Given the description of an element on the screen output the (x, y) to click on. 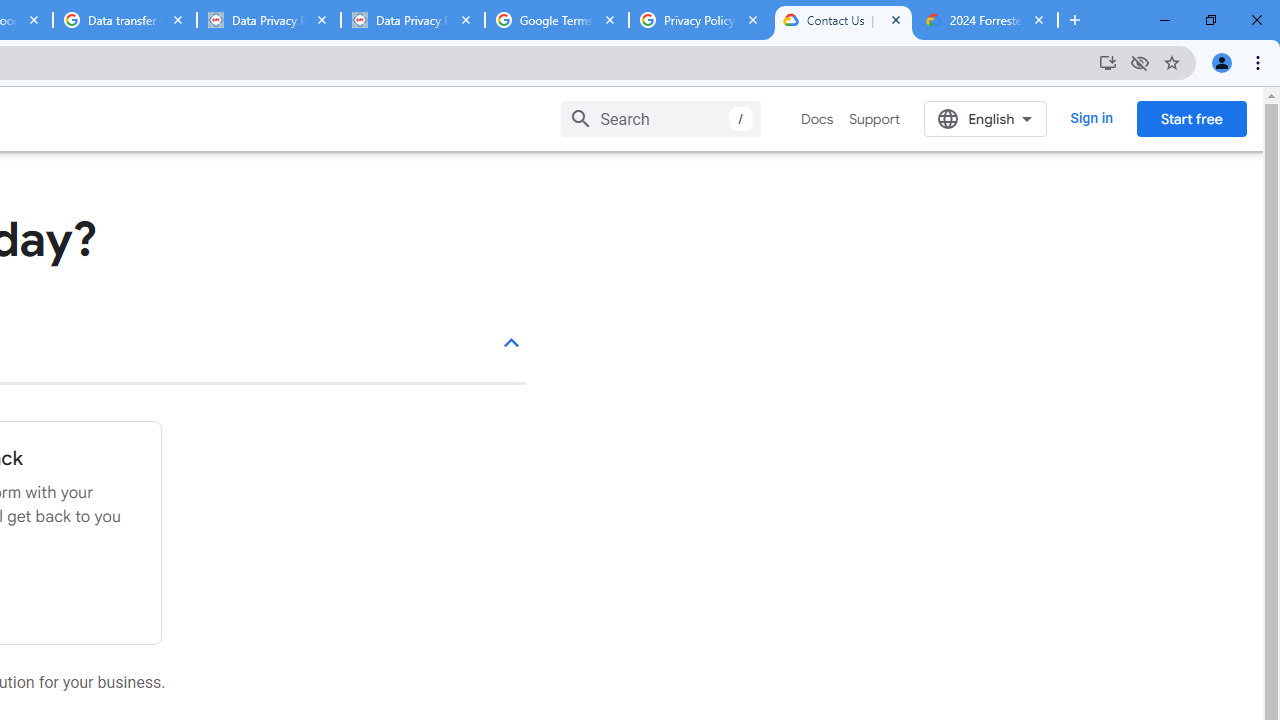
Install Google Cloud (1107, 62)
Data Privacy Framework (268, 20)
